Given the description of an element on the screen output the (x, y) to click on. 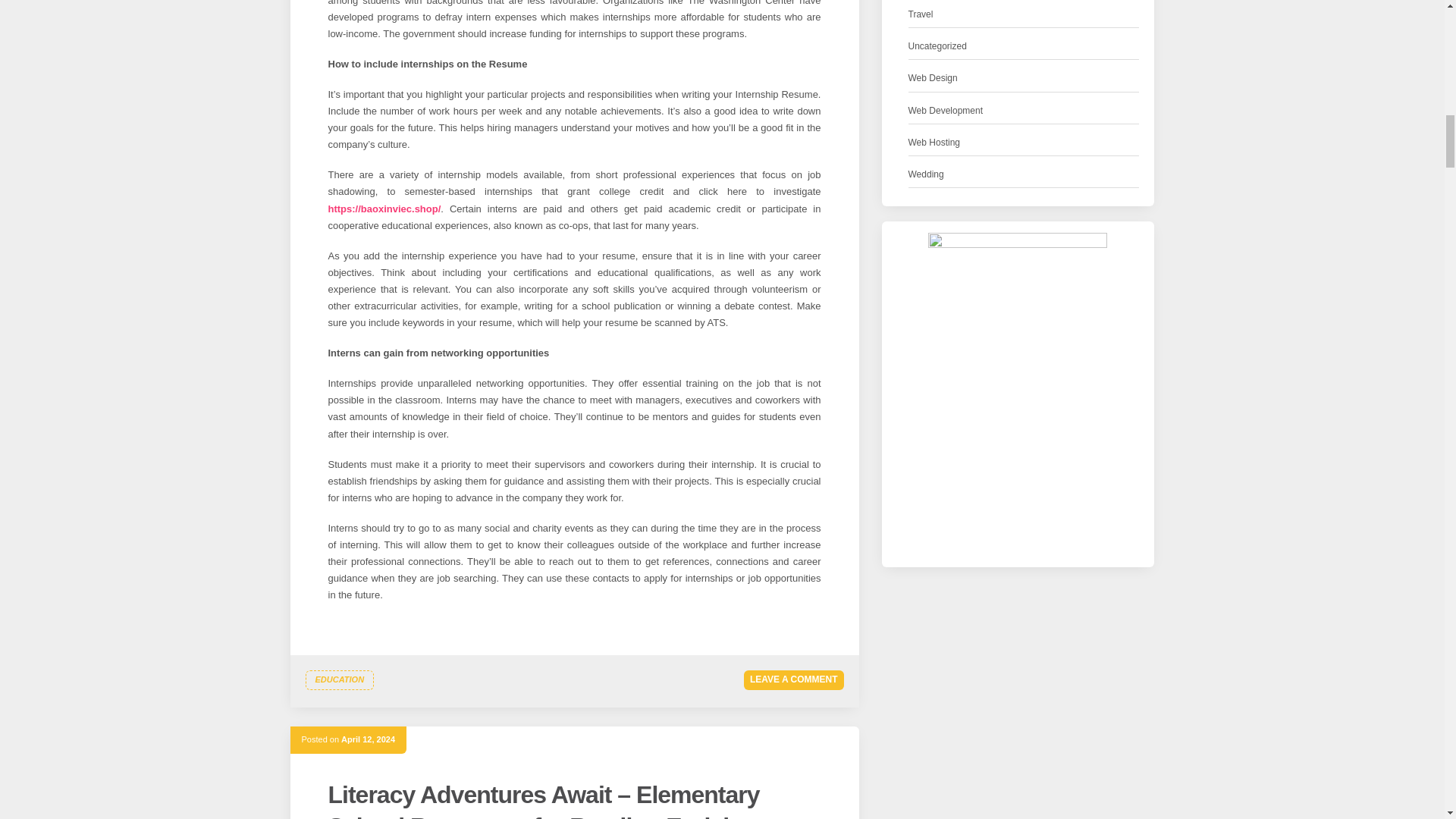
LEAVE A COMMENT (794, 679)
April 12, 2024 (367, 738)
EDUCATION (339, 680)
